Given the description of an element on the screen output the (x, y) to click on. 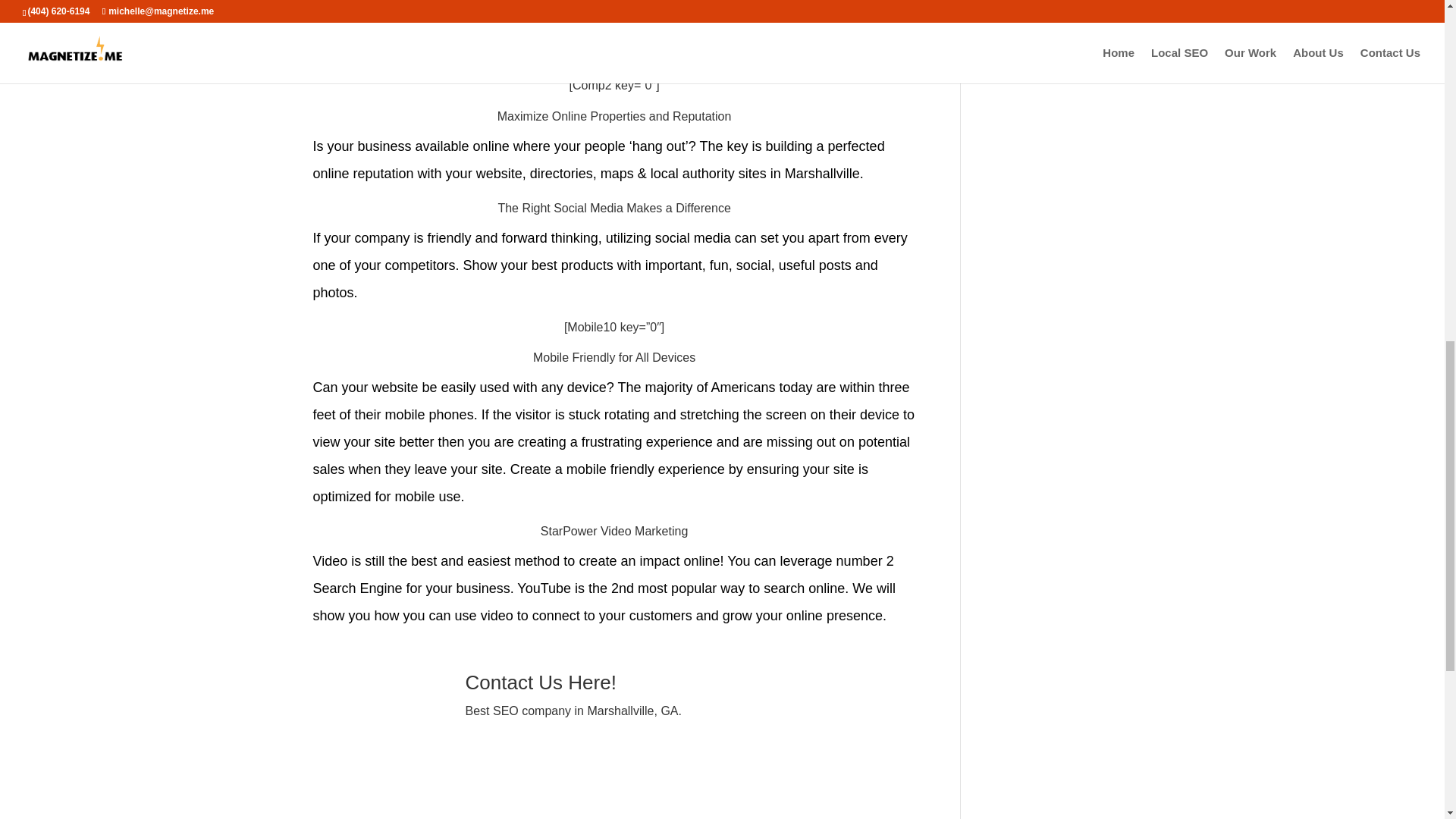
Contact Us Here!   (546, 681)
